Given the description of an element on the screen output the (x, y) to click on. 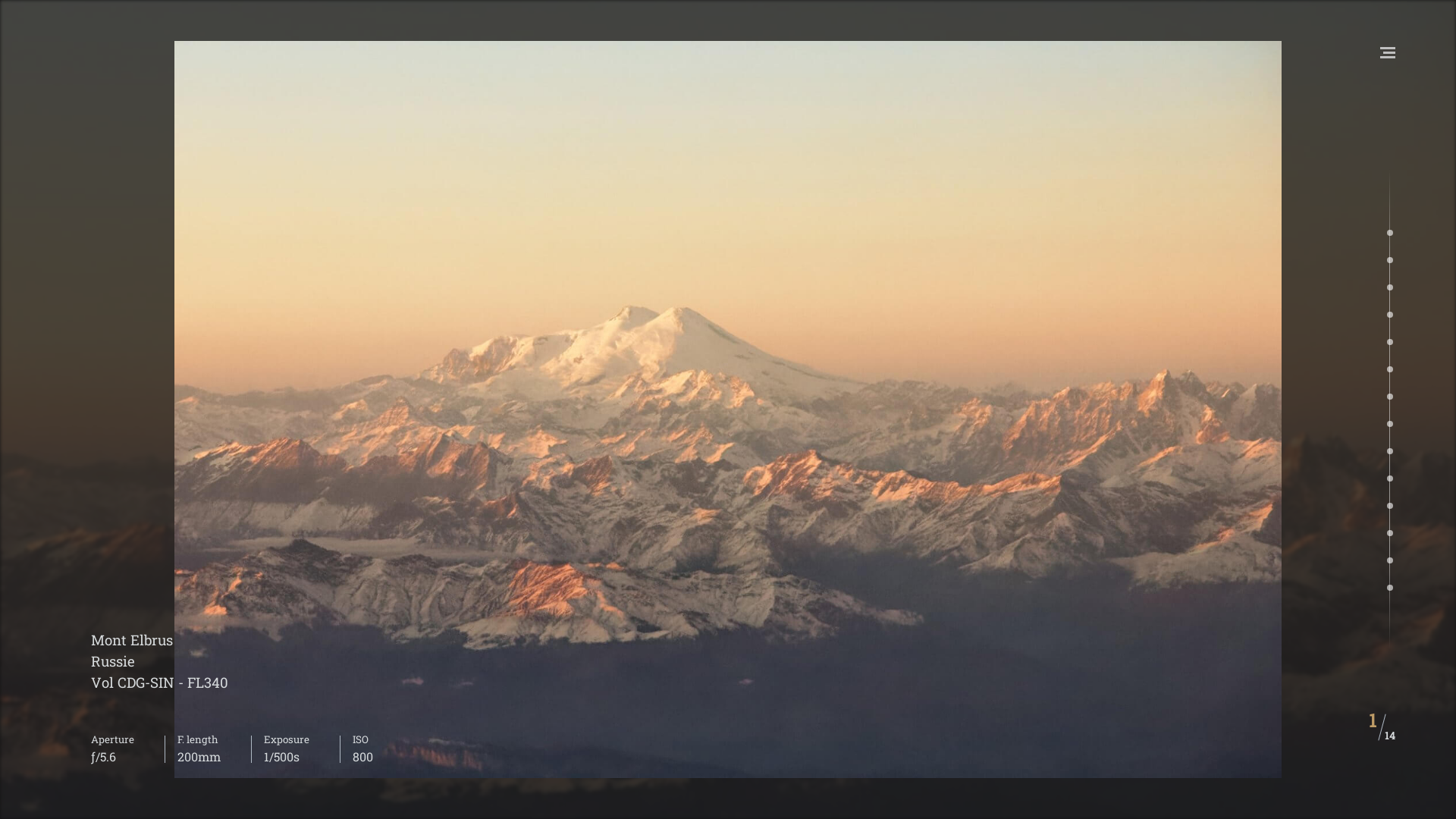
1 Element type: text (1372, 720)
